Given the description of an element on the screen output the (x, y) to click on. 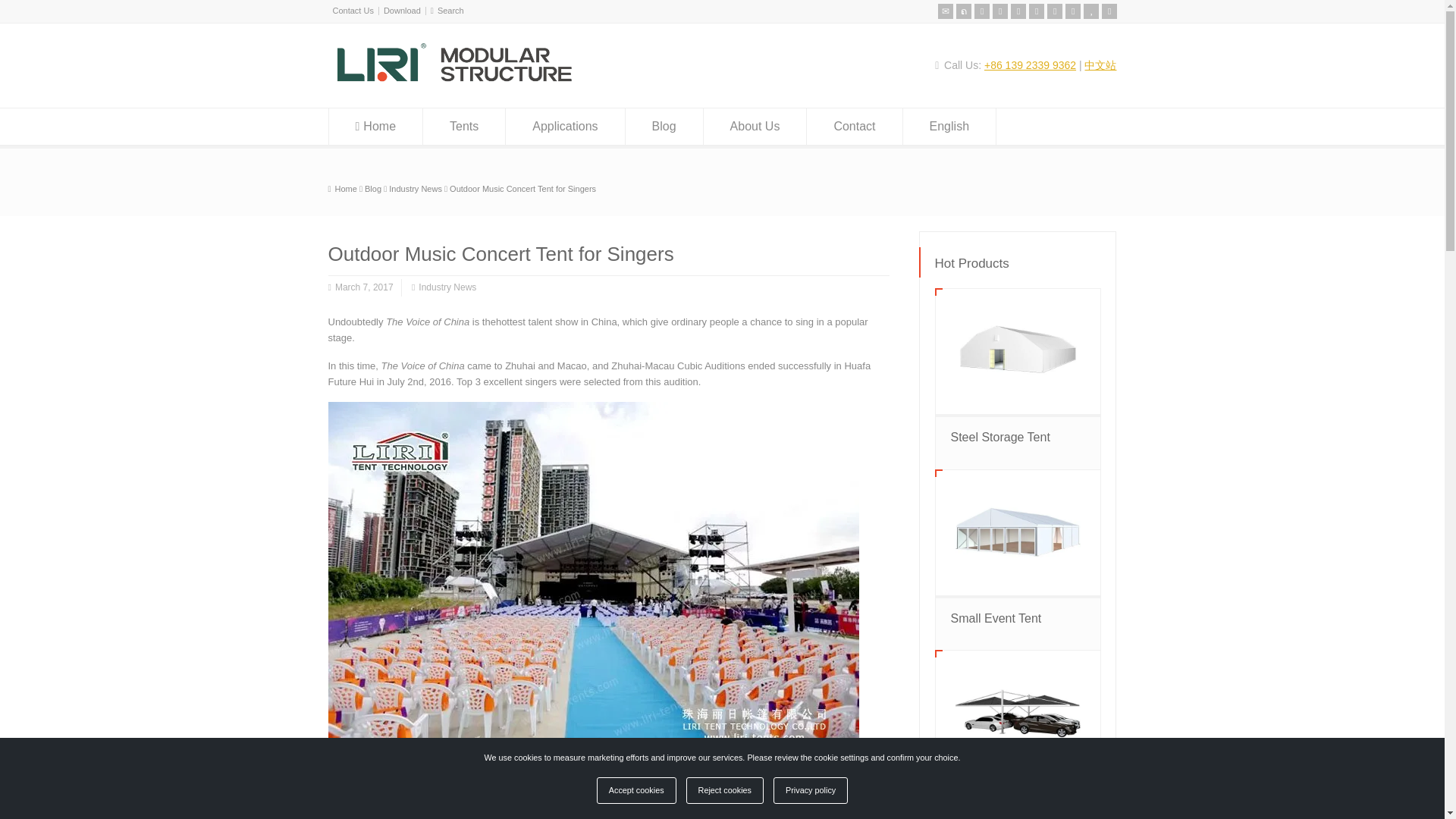
Vimeo (1053, 11)
Flickr (999, 11)
Pinterest (1017, 11)
Liri Structure (453, 79)
Download (402, 10)
Email (944, 11)
Tents (464, 126)
YouTube (1090, 11)
Contact Us (351, 10)
WhatsApp (1108, 11)
